Given the description of an element on the screen output the (x, y) to click on. 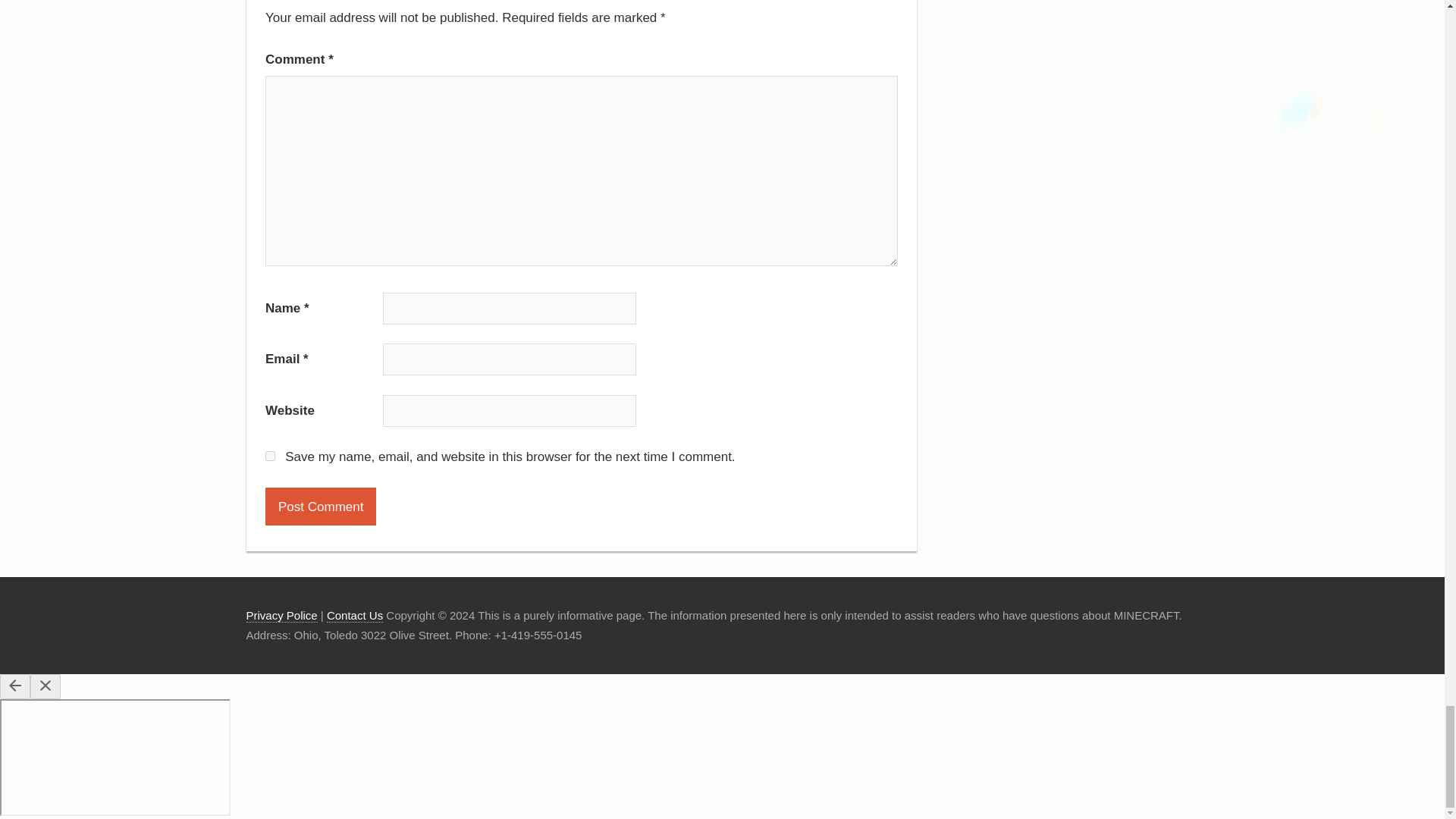
Post Comment (319, 506)
yes (269, 456)
